Given the description of an element on the screen output the (x, y) to click on. 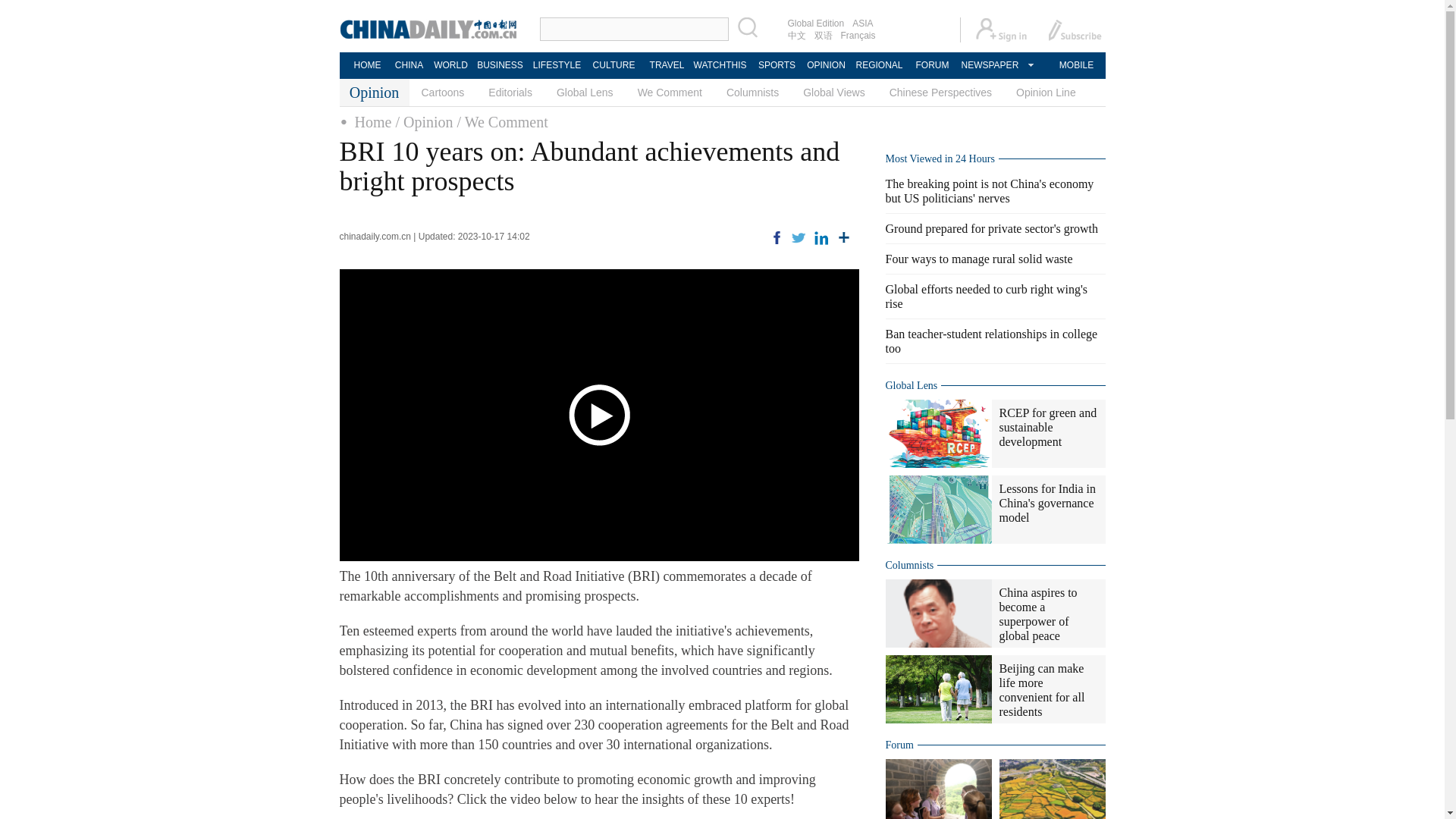
CULTURE (613, 65)
Global Edition (816, 23)
SPORTS (777, 65)
FORUM (931, 65)
TRAVEL (666, 65)
OPINION (825, 65)
WORLD (451, 65)
NEWSPAPER (988, 65)
LIFESTYLE (557, 65)
HOME (367, 65)
CHINA (408, 65)
ASIA (862, 23)
WATCHTHIS (719, 65)
REGIONAL (878, 65)
BUSINESS (499, 65)
